Given the description of an element on the screen output the (x, y) to click on. 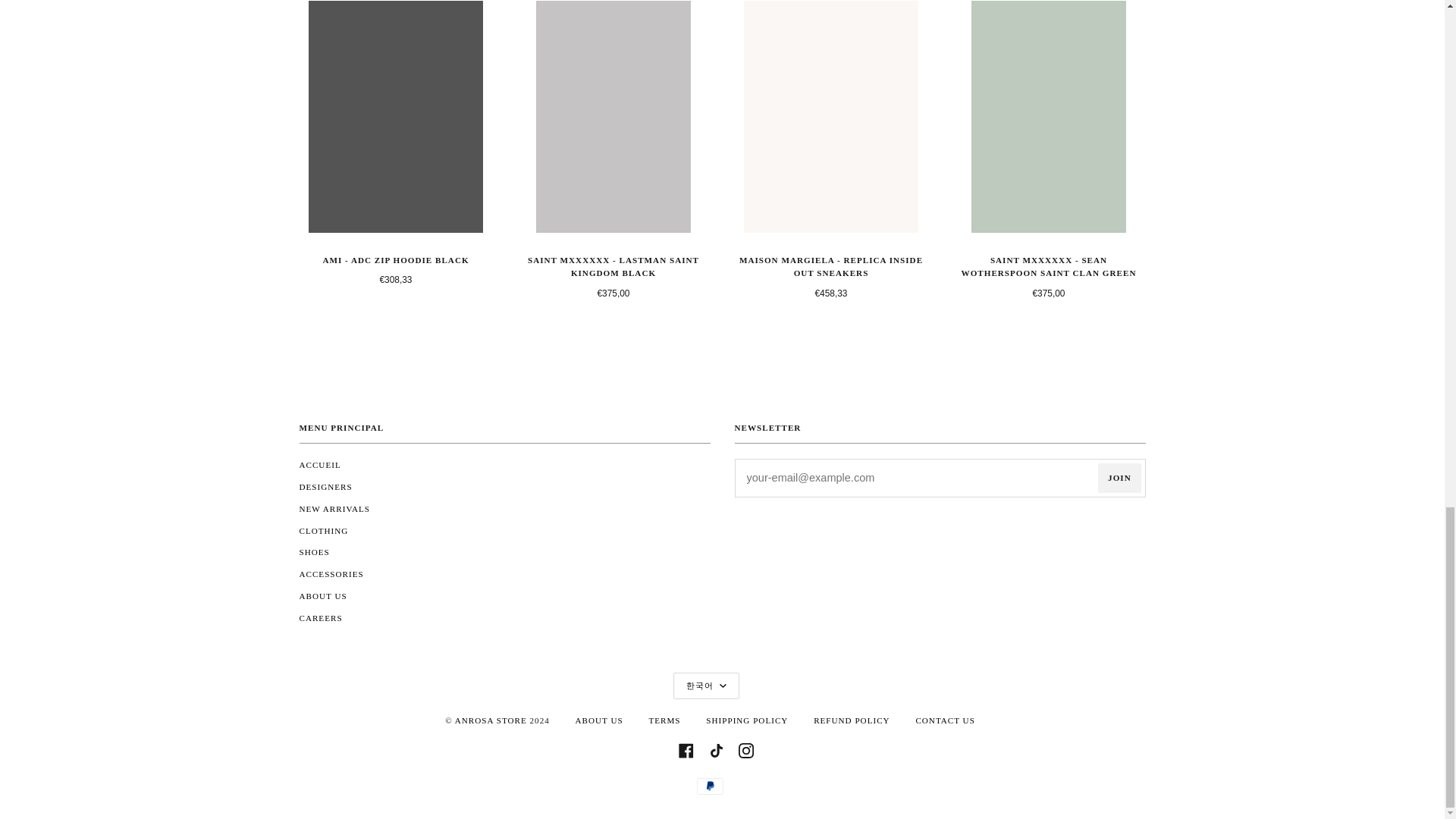
PAYPAL (710, 786)
Tiktok (715, 749)
Facebook (686, 749)
Instagram (746, 749)
